Given the description of an element on the screen output the (x, y) to click on. 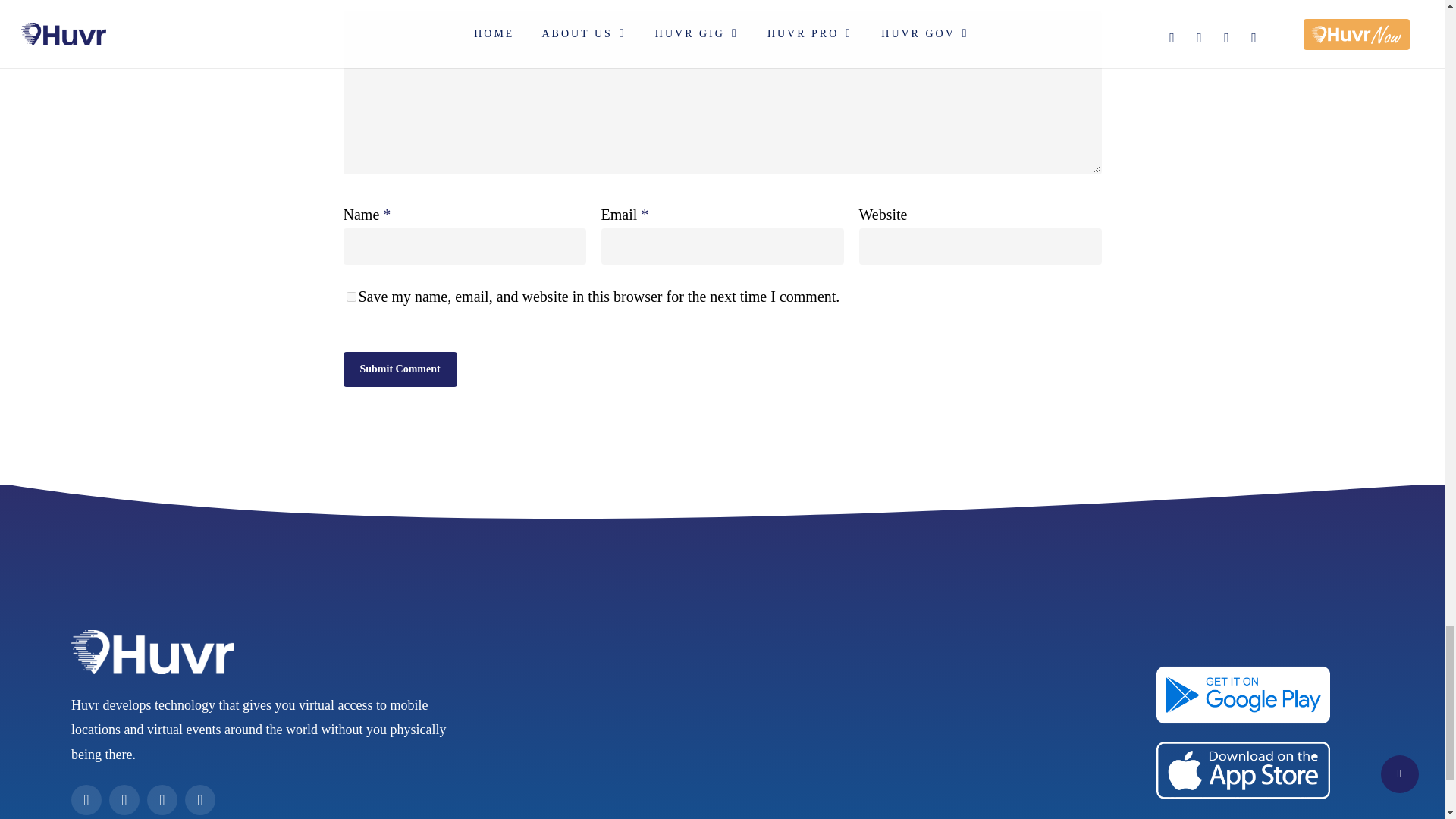
Submit Comment (399, 369)
yes (350, 296)
